Given the description of an element on the screen output the (x, y) to click on. 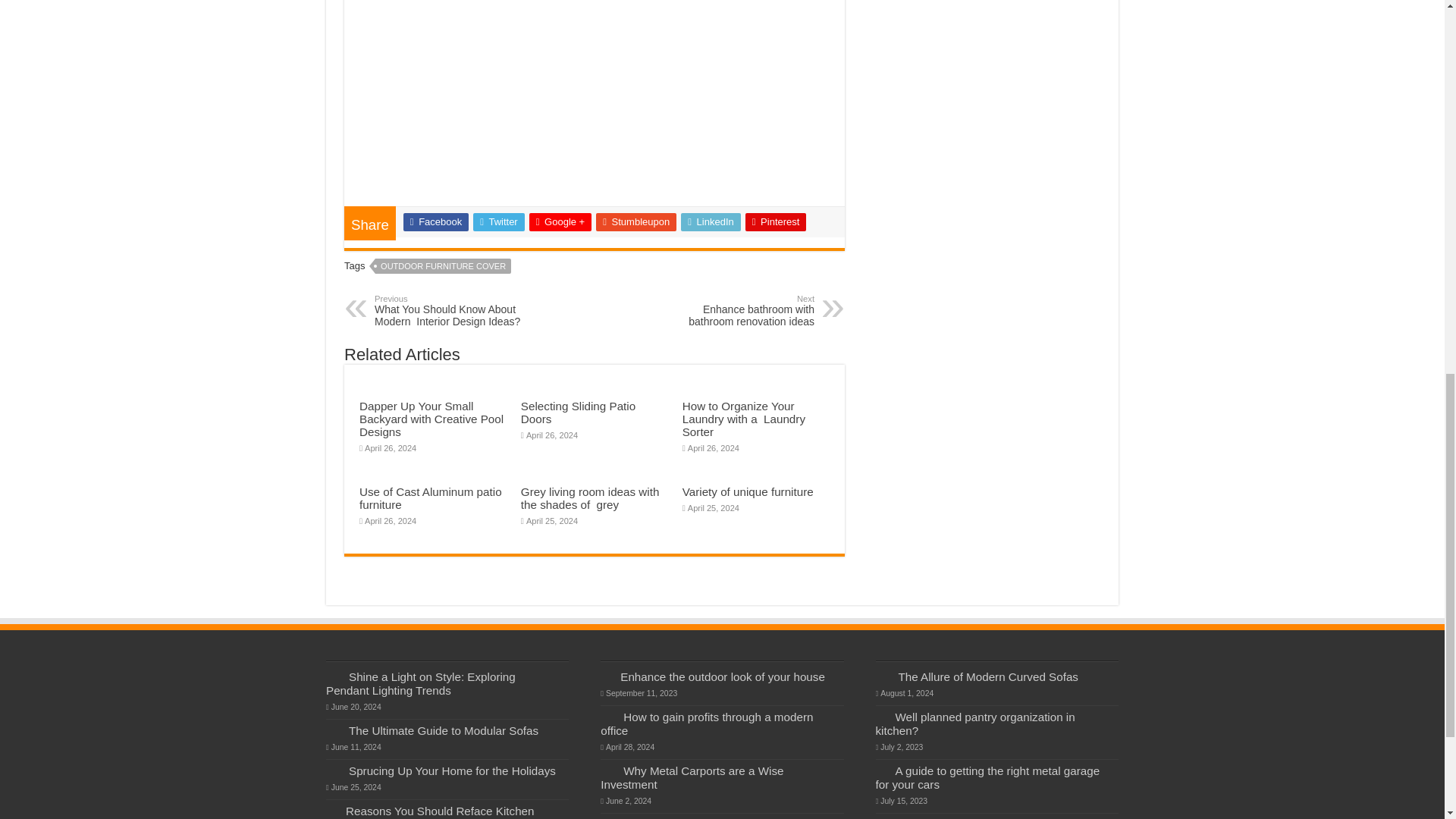
Twitter (498, 221)
Facebook (435, 221)
Scroll To Top (1421, 60)
